Given the description of an element on the screen output the (x, y) to click on. 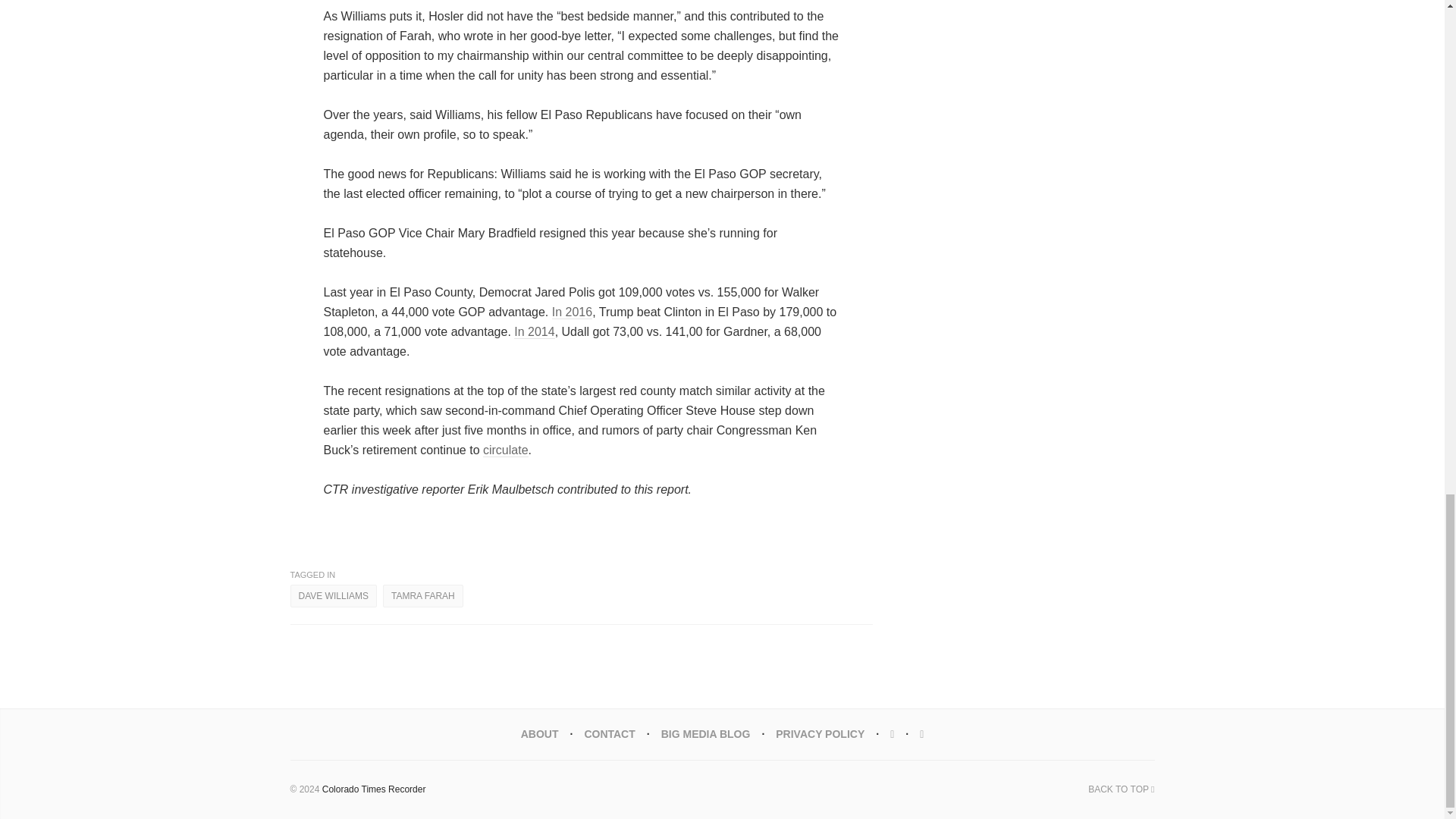
BACK TO TOP  (1120, 789)
TAMRA FARAH (422, 595)
View all posts in Tamra Farah (422, 595)
DAVE WILLIAMS (332, 595)
View all posts in Dave Williams (332, 595)
In 2014 (533, 332)
circulate (505, 450)
In 2016 (571, 312)
